Given the description of an element on the screen output the (x, y) to click on. 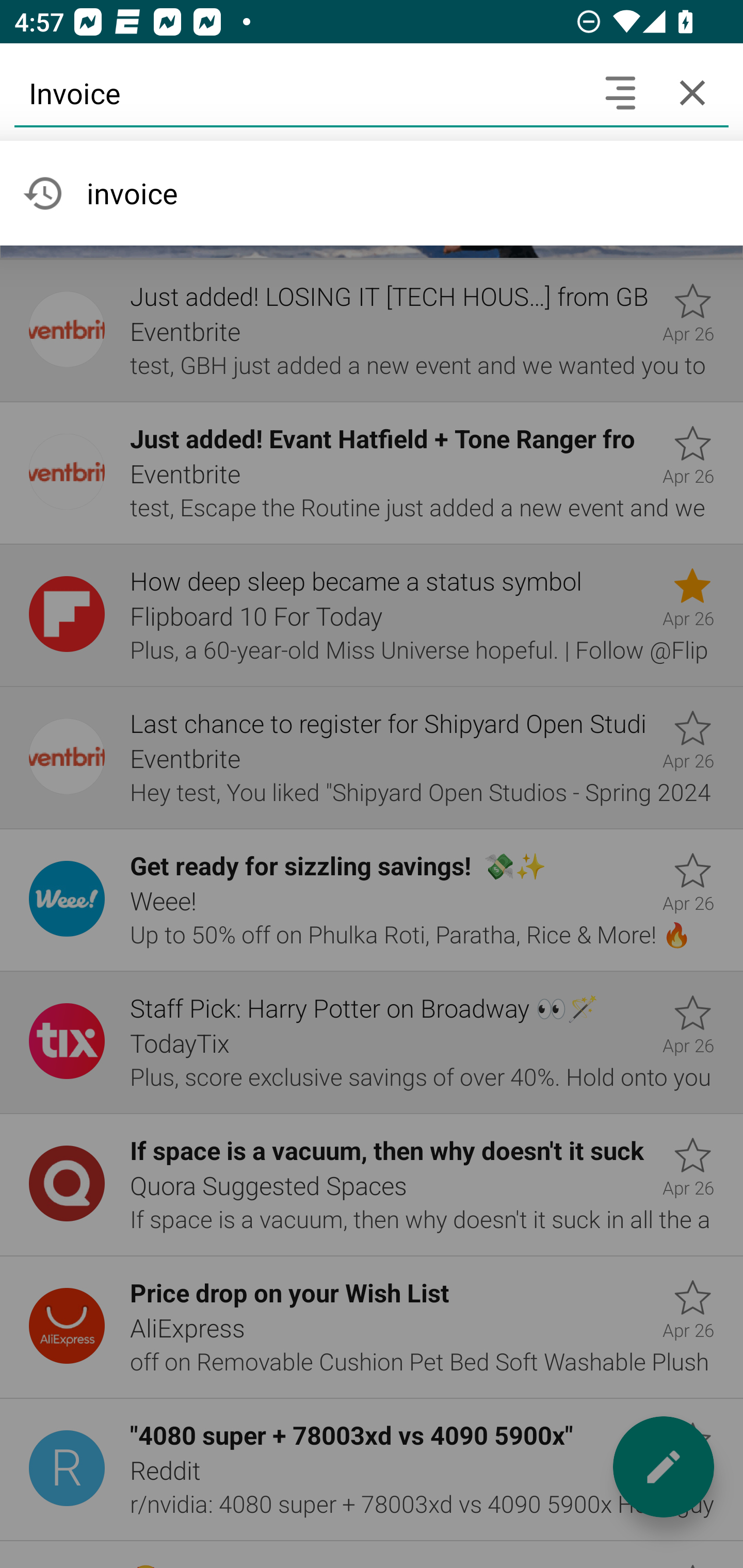
Invoice (298, 92)
Search headers and text (619, 92)
Cancel (692, 92)
